Given the description of an element on the screen output the (x, y) to click on. 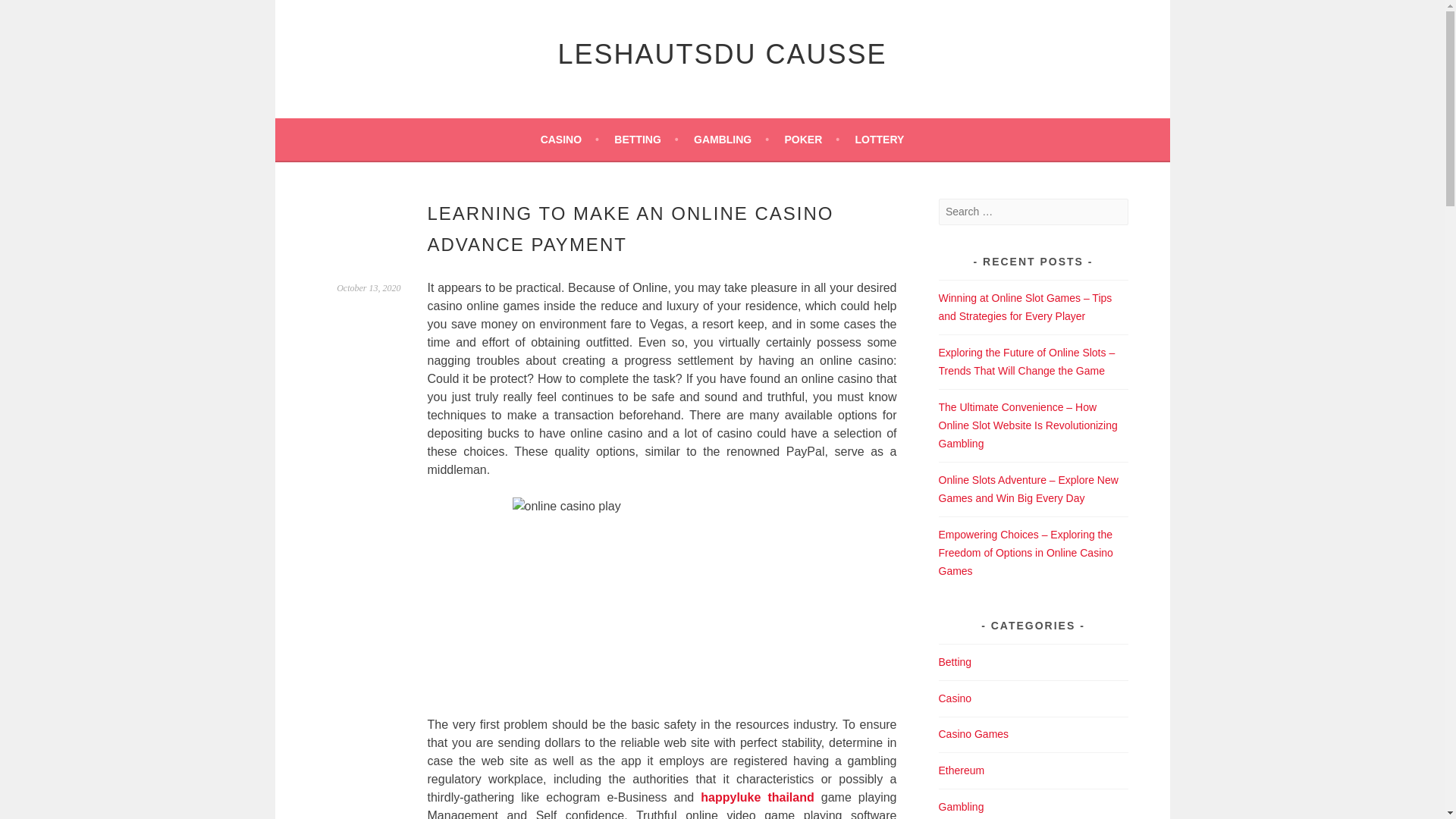
Search (30, 13)
GAMBLING (731, 139)
Casino Games (974, 734)
Ethereum (962, 770)
happyluke thailand (756, 797)
POKER (812, 139)
LOTTERY (880, 139)
CASINO (569, 139)
BETTING (646, 139)
Casino (955, 698)
Gambling (961, 806)
October 13, 2020 (368, 287)
LESHAUTSDU CAUSSE (721, 53)
Betting (955, 662)
